Given the description of an element on the screen output the (x, y) to click on. 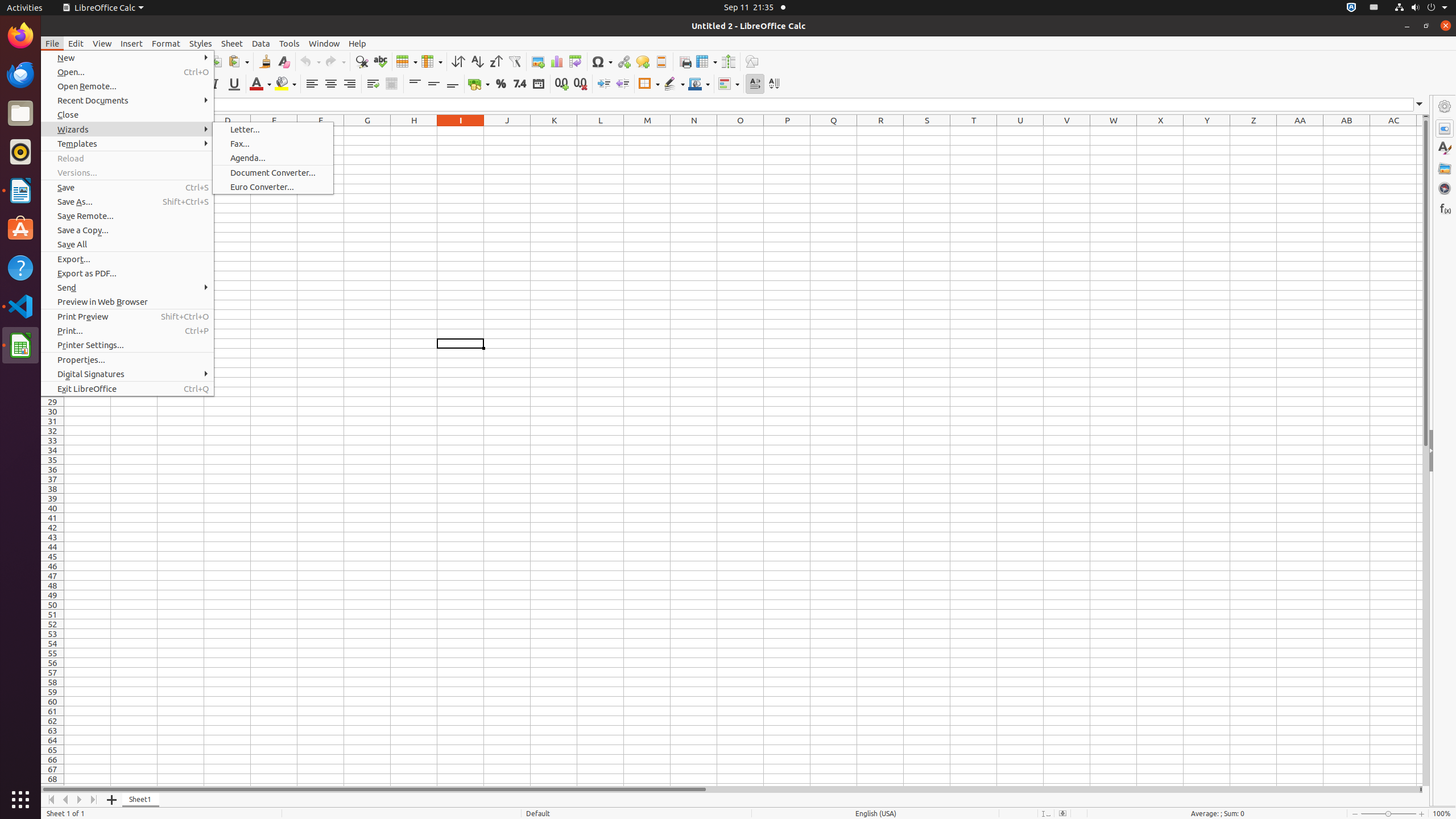
Agenda... Element type: menu-item (272, 157)
T1 Element type: table-cell (973, 130)
J1 Element type: table-cell (507, 130)
Split Window Element type: push-button (727, 61)
Document Converter... Element type: menu-item (272, 172)
